Given the description of an element on the screen output the (x, y) to click on. 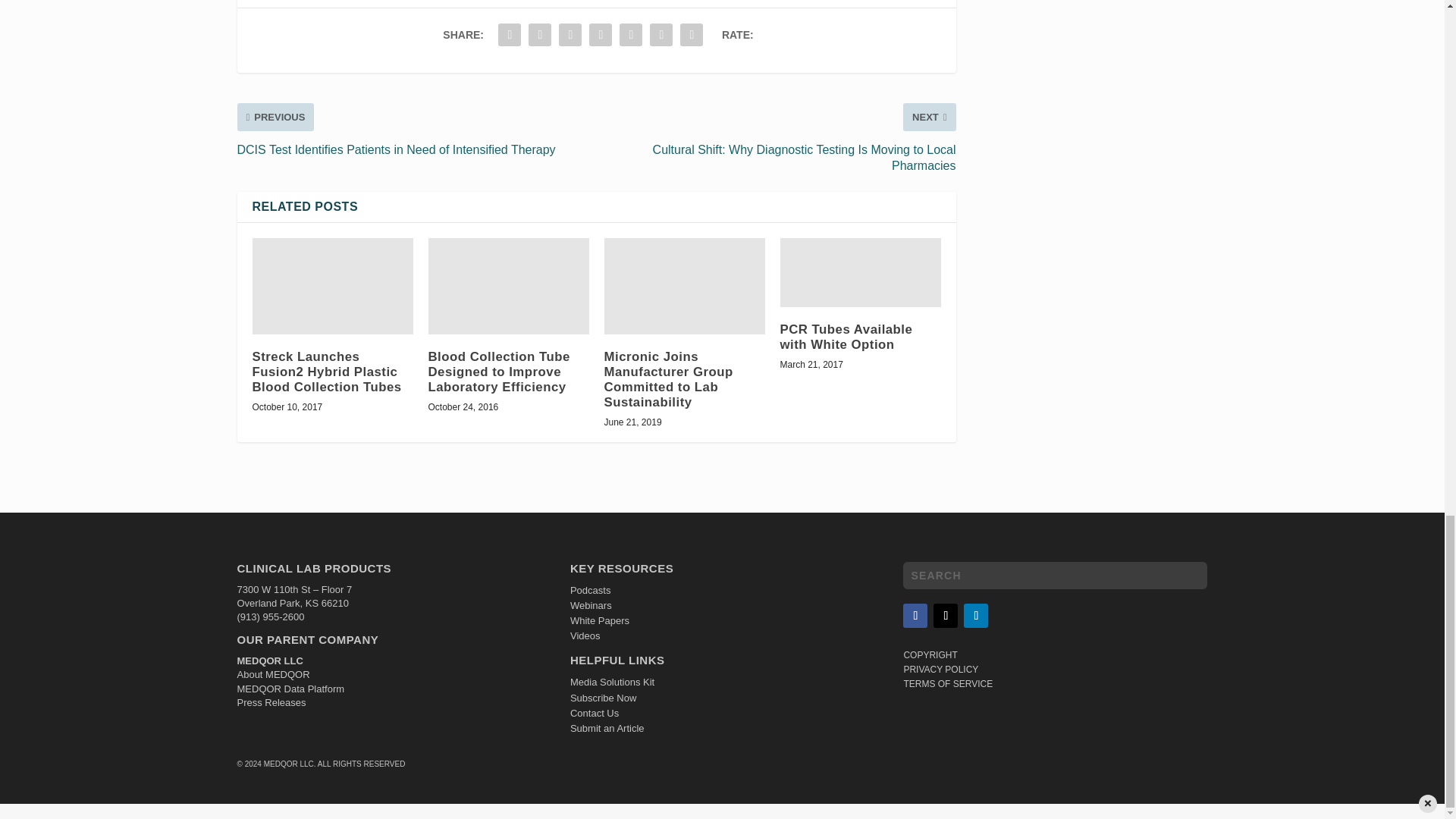
Follow on LinkedIn (975, 615)
PCR Tubes Available with White Option (859, 272)
Follow on Facebook (914, 615)
Follow on X (945, 615)
